Given the description of an element on the screen output the (x, y) to click on. 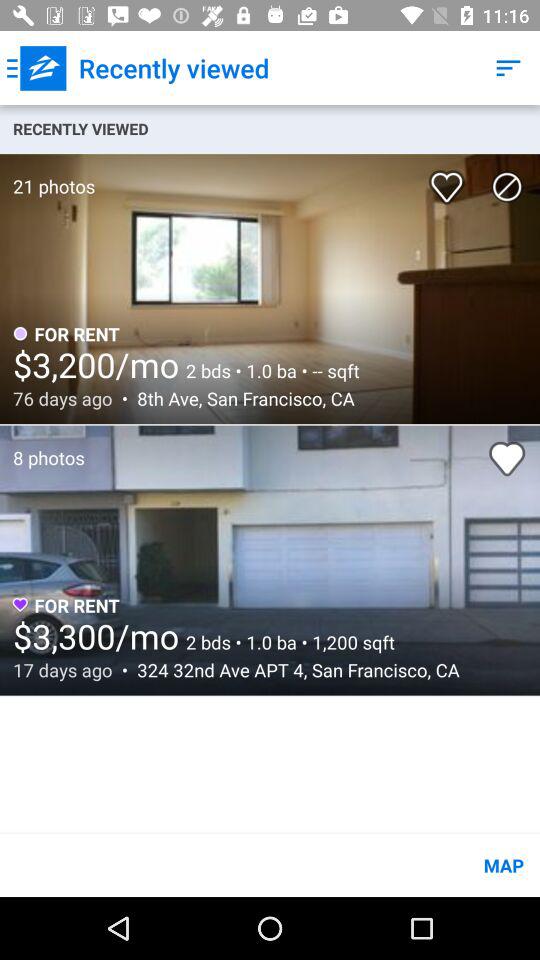
select the map item (270, 864)
